Given the description of an element on the screen output the (x, y) to click on. 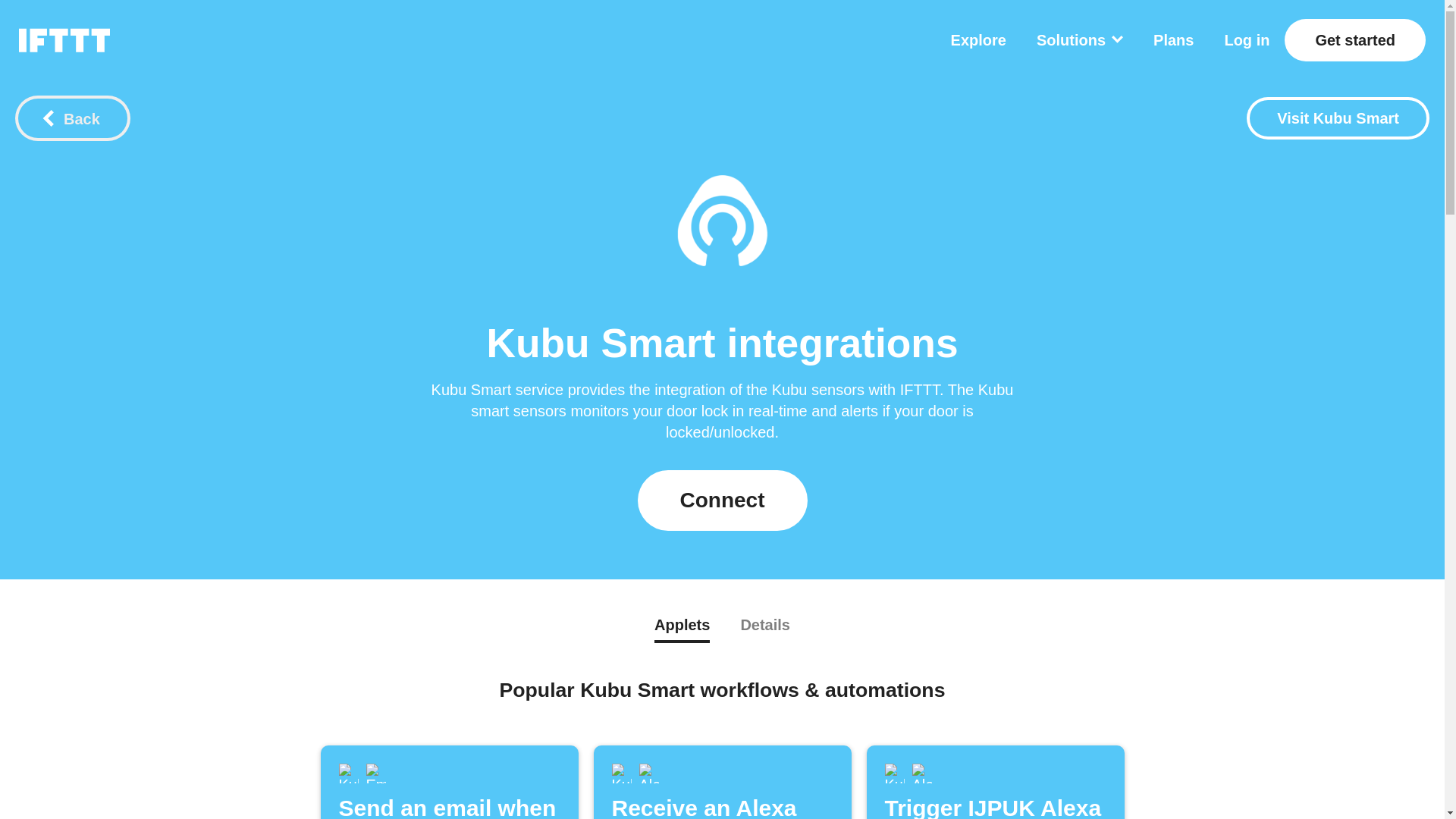
Explore (978, 39)
Plans (1173, 39)
Connect (721, 500)
Back (72, 117)
Get started (1354, 39)
Explore (978, 39)
Email (375, 772)
Solutions (1079, 39)
Kubu Smart integrations (722, 220)
Get started (1354, 39)
Log in (1246, 39)
Plans (1173, 39)
Alexa Actions by mkZense (1337, 118)
